Given the description of an element on the screen output the (x, y) to click on. 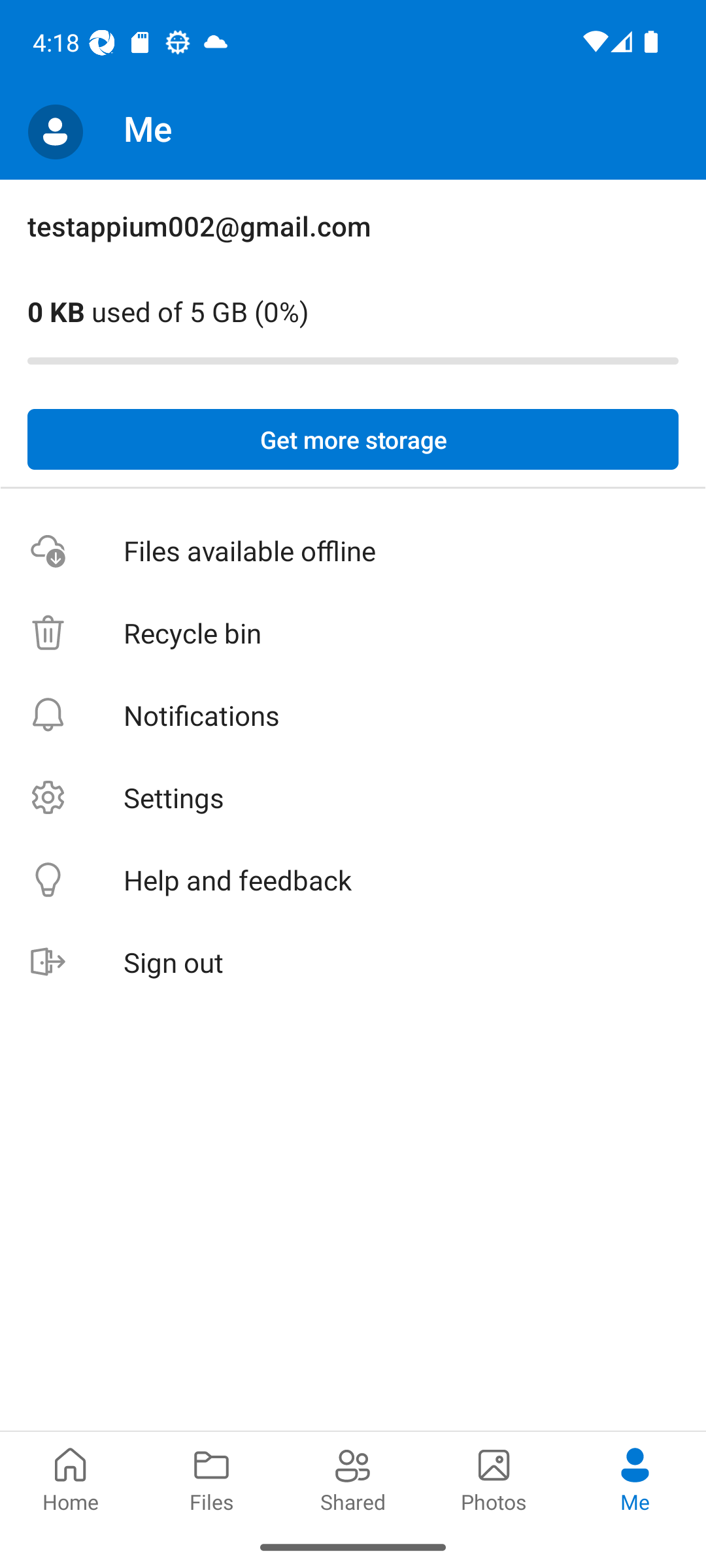
Account switcher (55, 131)
Get more storage (352, 439)
Files available offline (353, 550)
Recycle bin (353, 633)
Notifications (353, 714)
Settings (353, 796)
Help and feedback (353, 879)
Sign out (353, 962)
Home pivot Home (70, 1478)
Files pivot Files (211, 1478)
Shared pivot Shared (352, 1478)
Photos pivot Photos (493, 1478)
